Given the description of an element on the screen output the (x, y) to click on. 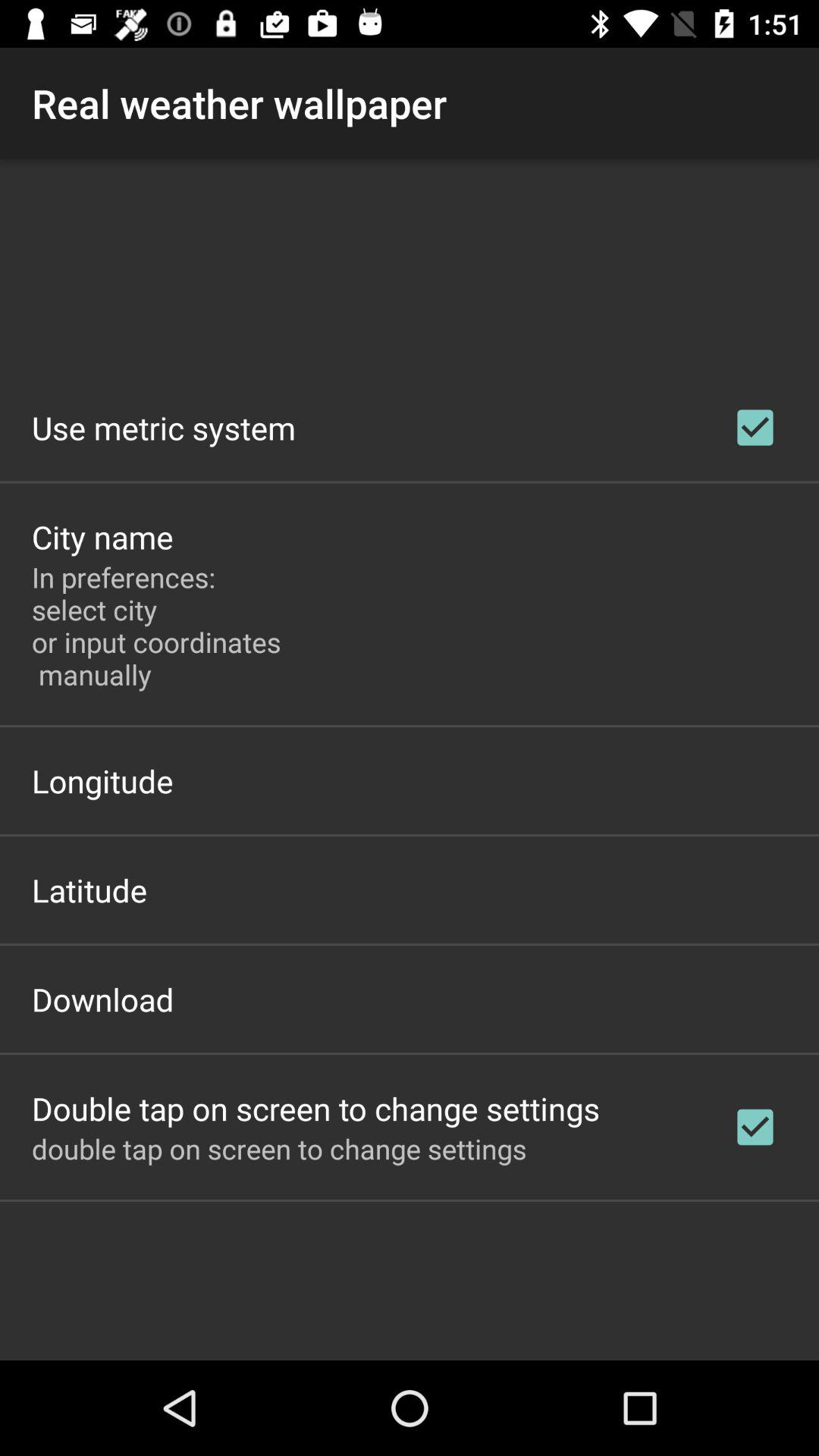
choose the app below the longitude item (89, 889)
